Given the description of an element on the screen output the (x, y) to click on. 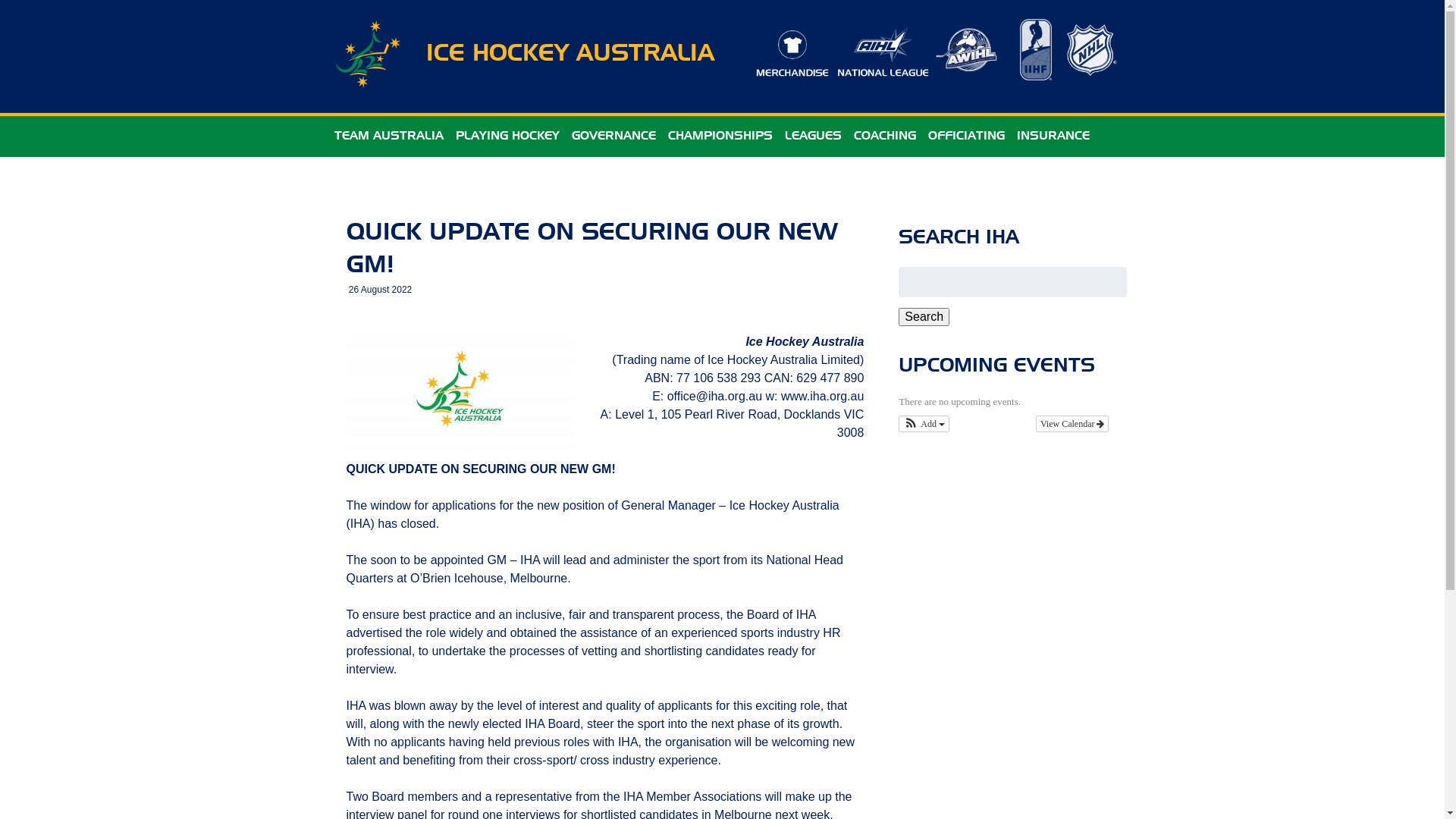
COACHING Element type: text (884, 136)
OFFICIATING Element type: text (966, 136)
PLAYING HOCKEY Element type: text (506, 136)
INSURANCE Element type: text (1052, 136)
CHAMPIONSHIPS Element type: text (719, 136)
TEAM AUSTRALIA Element type: text (387, 136)
CONTACT Element type: text (361, 176)
LEAGUES Element type: text (812, 136)
GOVERNANCE Element type: text (613, 136)
Search Element type: text (923, 316)
View Calendar Element type: text (1072, 423)
ICE HOCKEY AUSTRALIA Element type: text (570, 54)
